Given the description of an element on the screen output the (x, y) to click on. 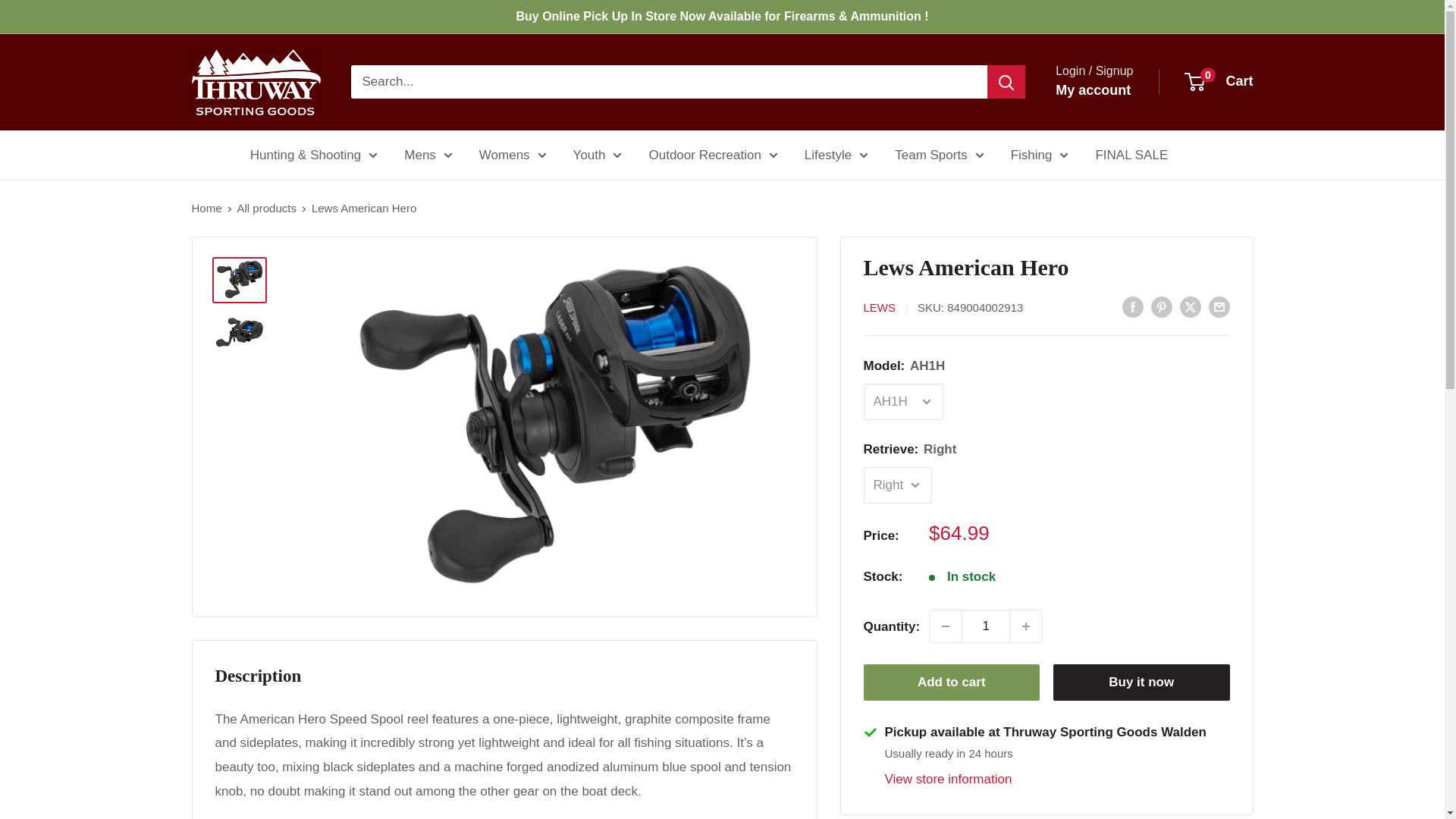
1 (985, 626)
Decrease quantity by 1 (945, 626)
Increase quantity by 1 (1026, 626)
